Given the description of an element on the screen output the (x, y) to click on. 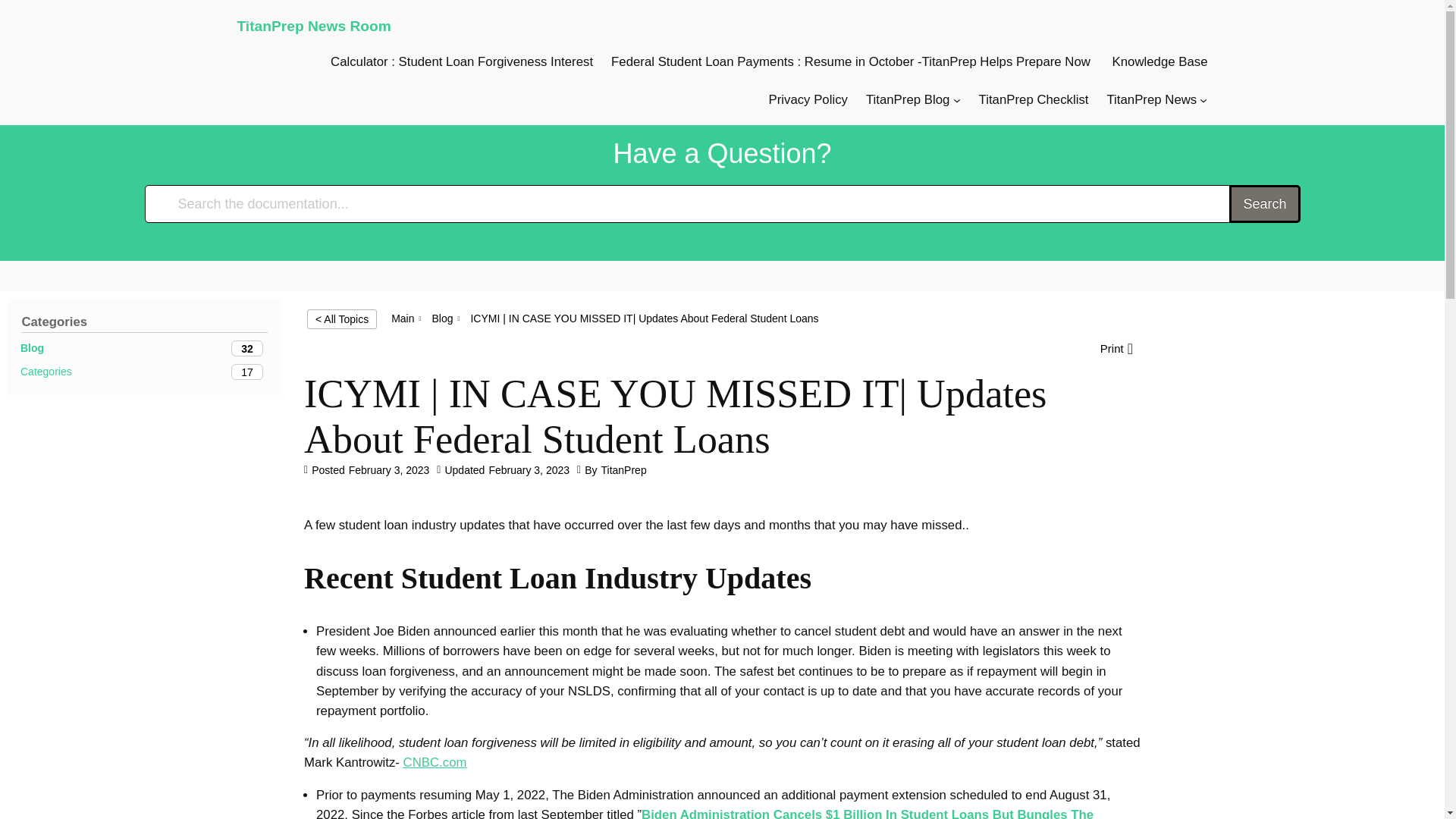
TitanPrep Checklist (143, 371)
Knowledge Base (1033, 99)
Search (1160, 62)
Blog (1264, 203)
TitanPrep Blog (441, 318)
Privacy Policy (143, 348)
TitanPrep News (907, 99)
